Given the description of an element on the screen output the (x, y) to click on. 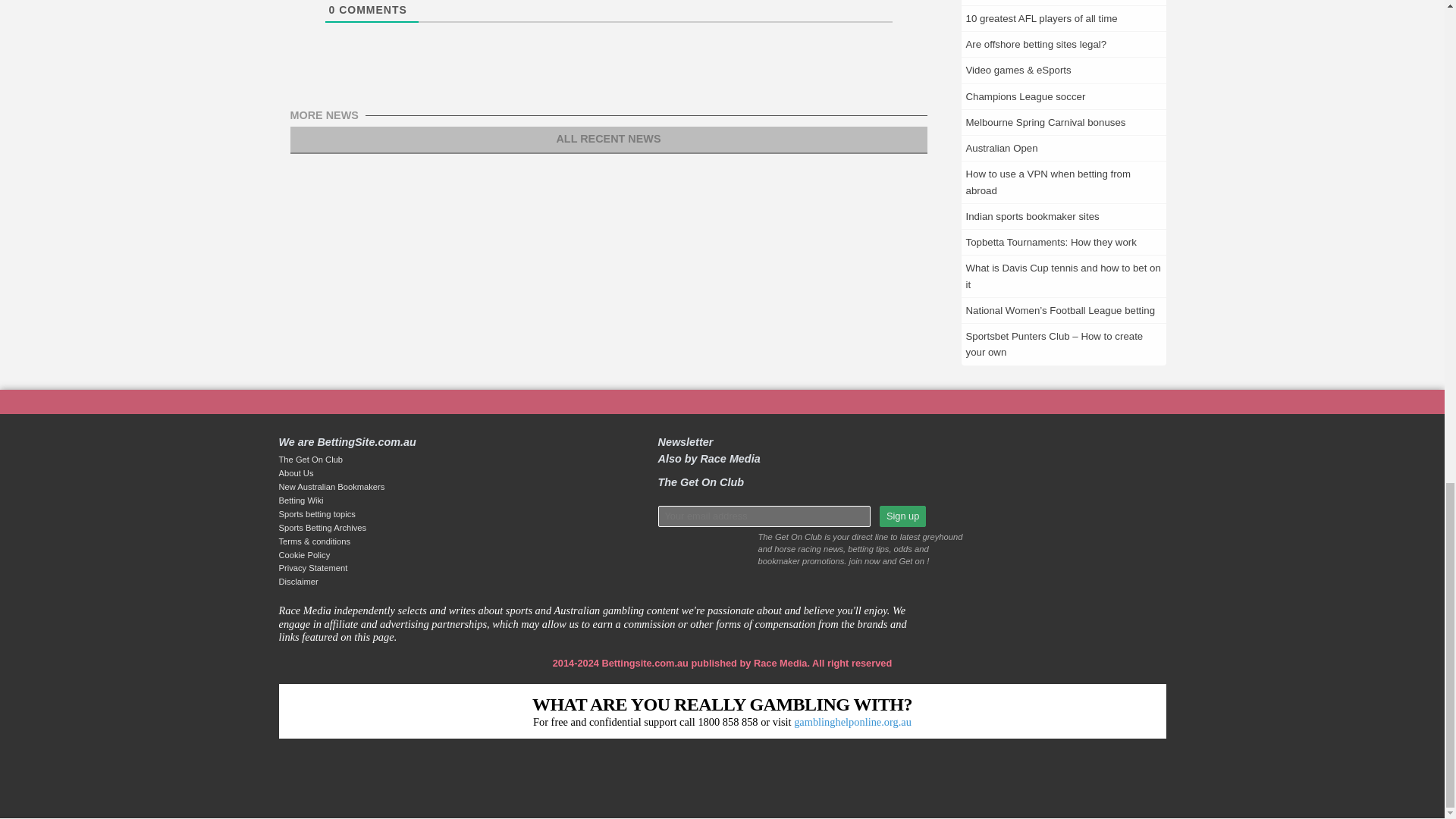
Sign up (902, 516)
